Given the description of an element on the screen output the (x, y) to click on. 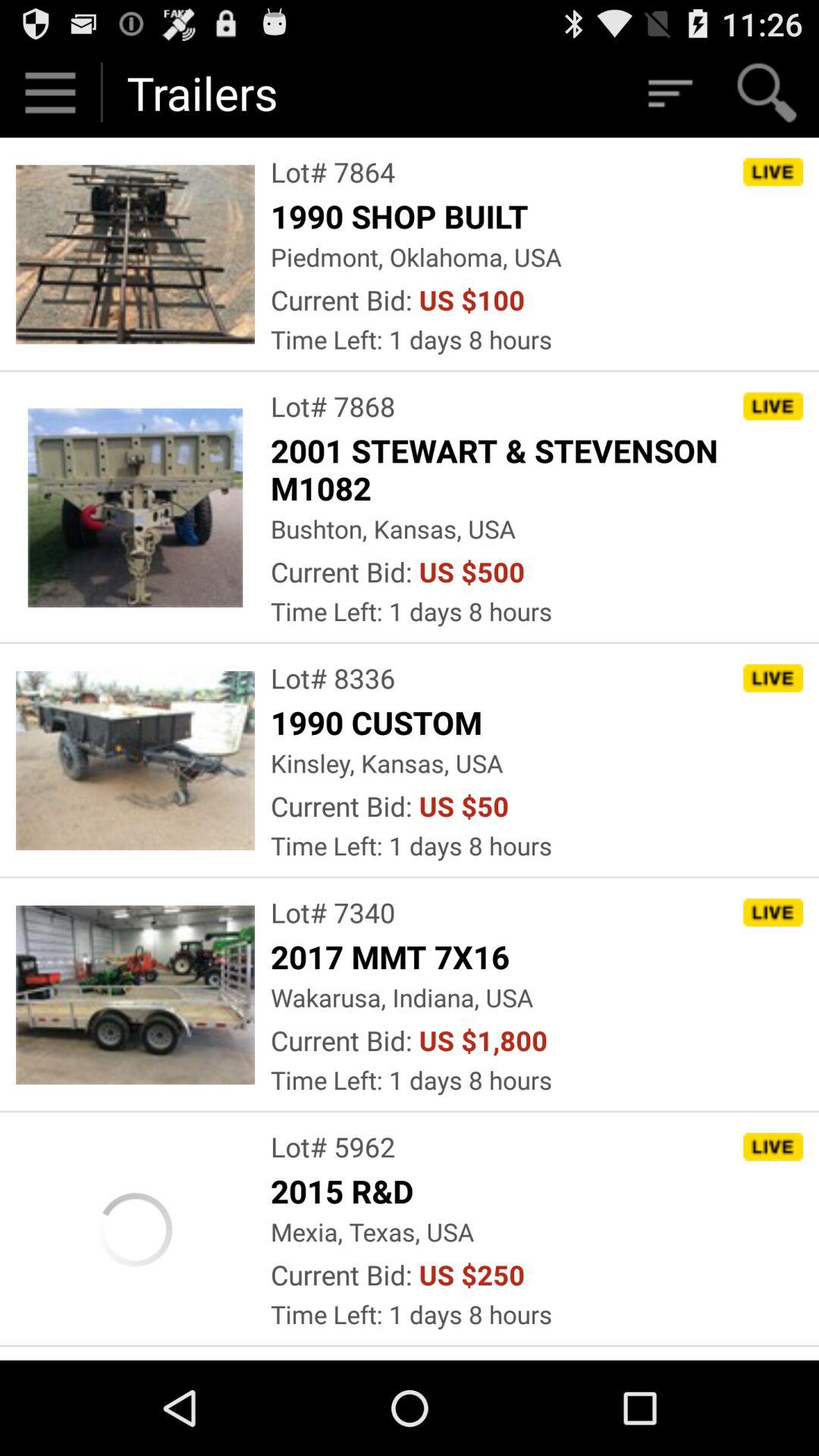
press the 1990 shop built  app (403, 215)
